Given the description of an element on the screen output the (x, y) to click on. 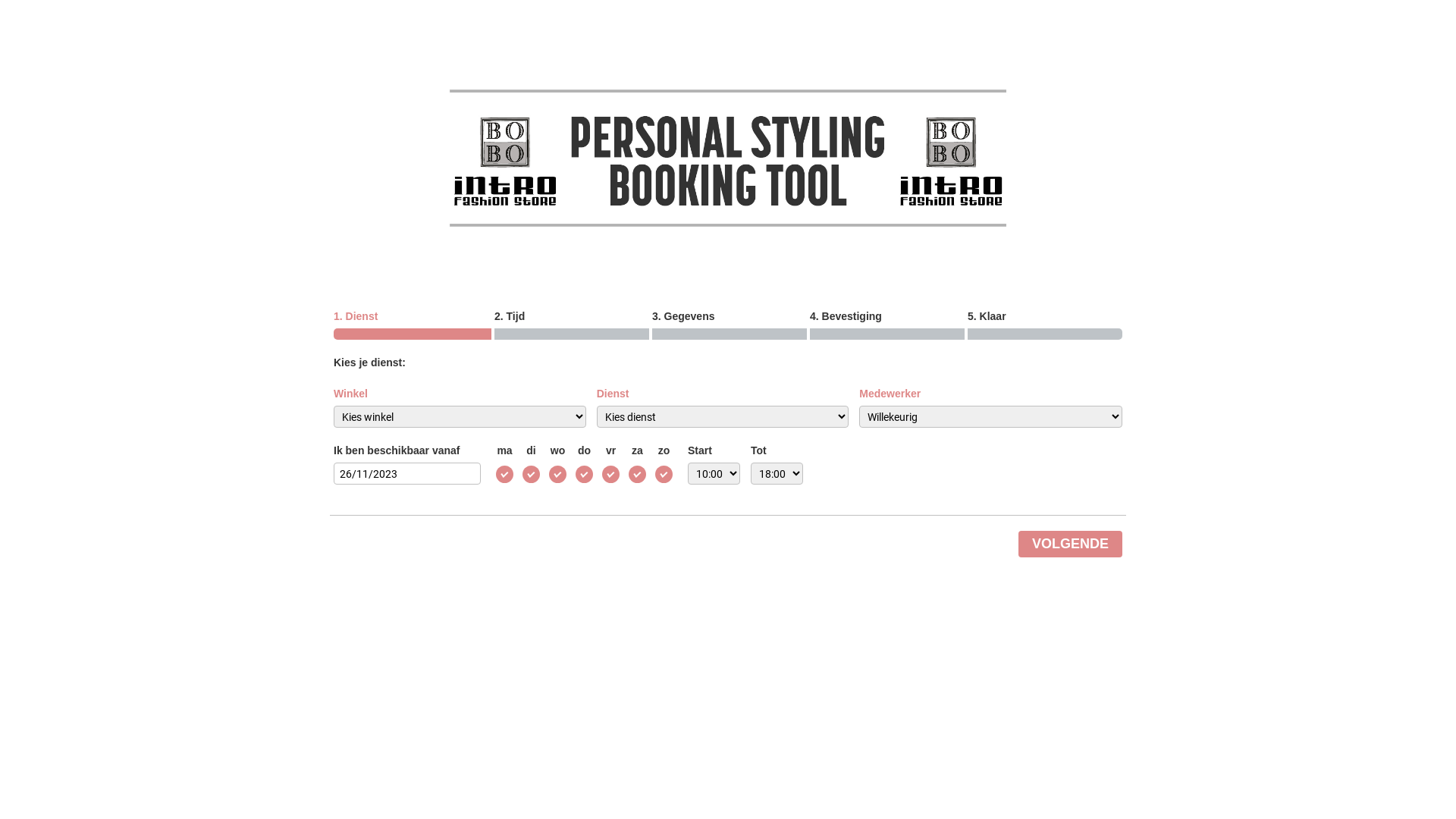
VOLGENDE Element type: text (1070, 543)
